Given the description of an element on the screen output the (x, y) to click on. 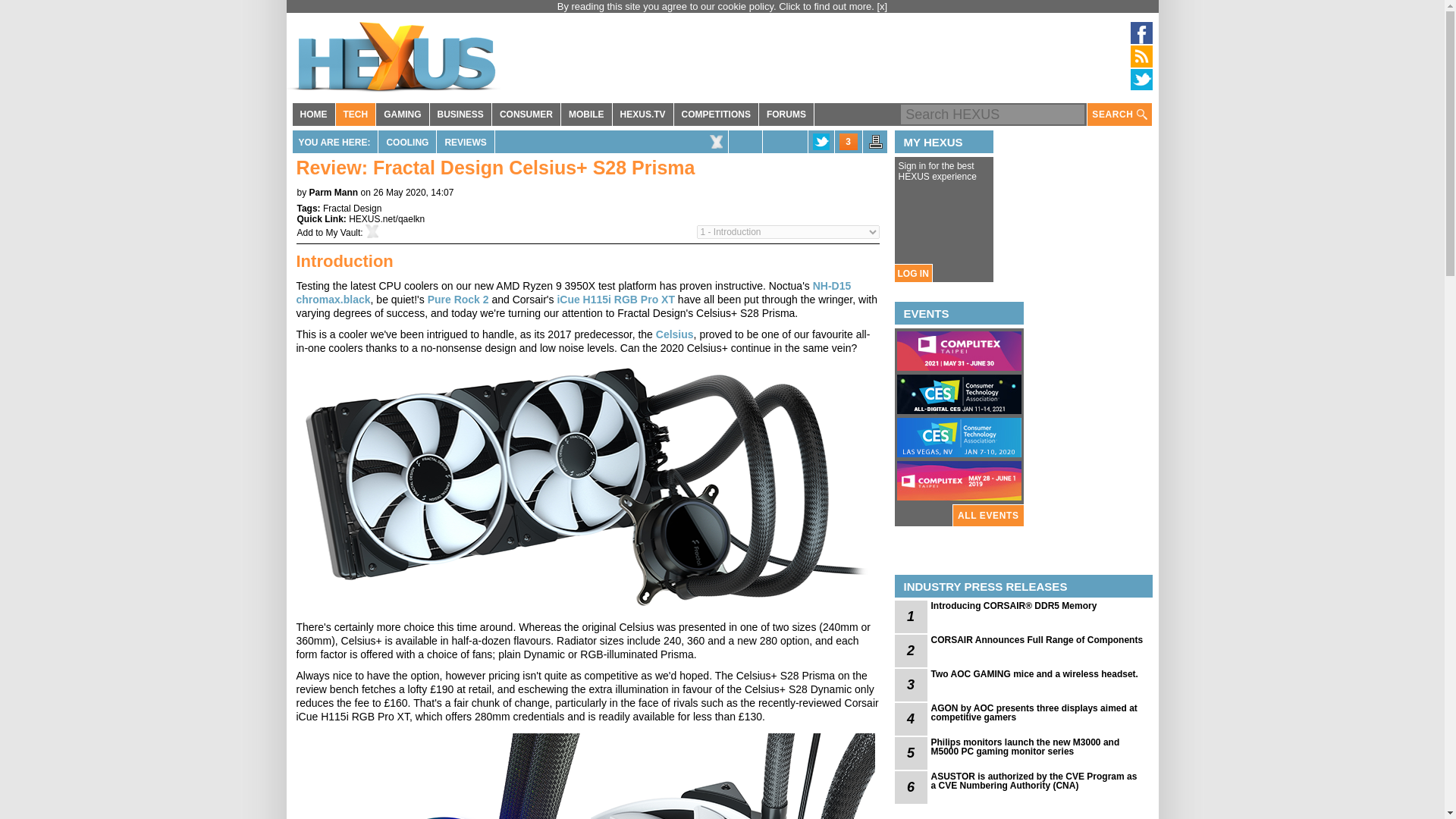
CONSUMER (526, 114)
3 (847, 141)
 Search HEXUS (992, 114)
LOG IN (912, 272)
COMPETITIONS (716, 114)
My Vault (343, 232)
BUSINESS (460, 114)
Parm Mann (333, 192)
Pure Rock 2 (458, 299)
MOBILE (585, 114)
GAMING (401, 114)
NH-D15 chromax.black (572, 292)
Fractal Design (352, 208)
TECH (354, 114)
